Given the description of an element on the screen output the (x, y) to click on. 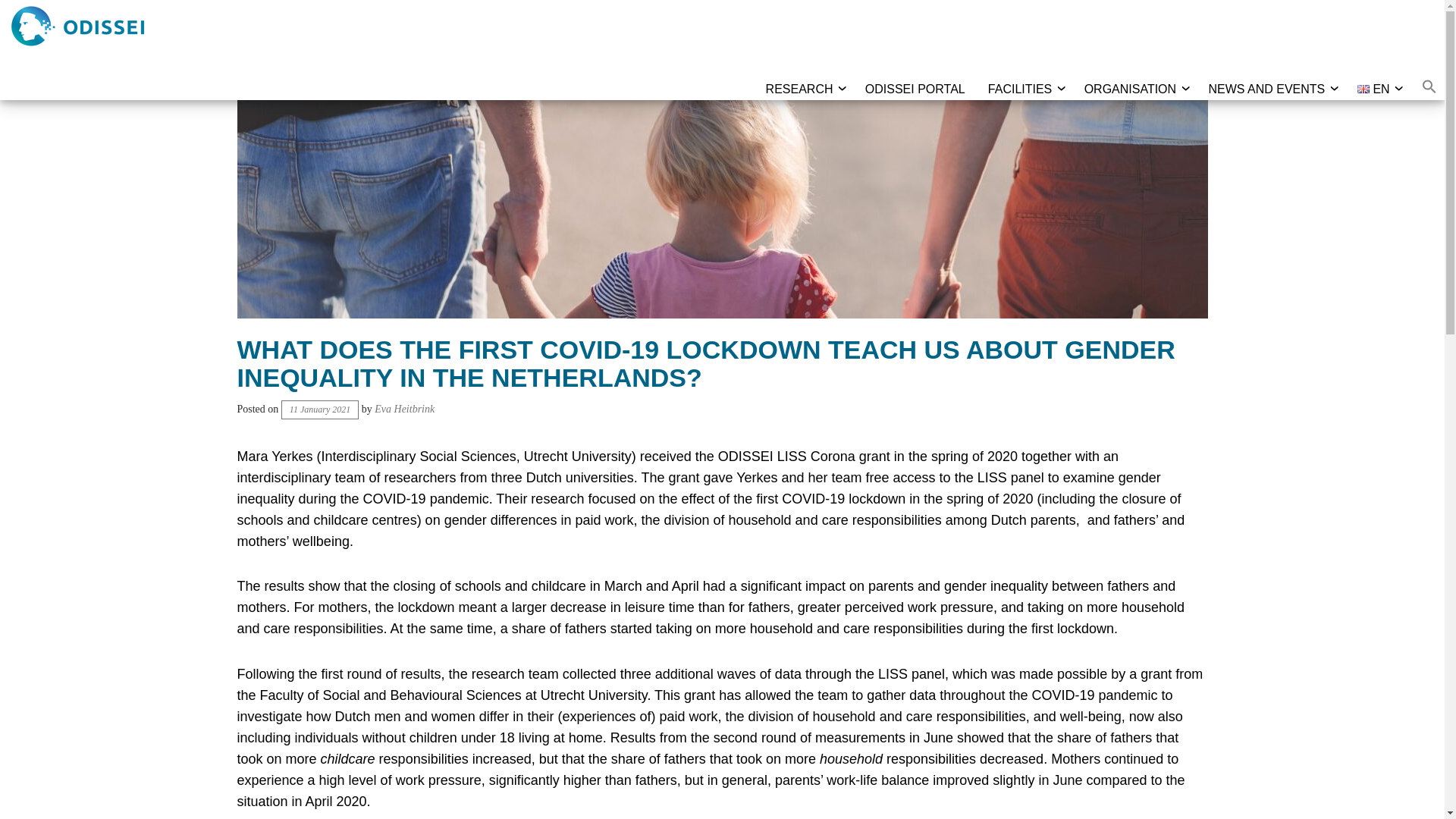
ODISSEI PORTAL (914, 88)
FACILITIES (1019, 88)
RESEARCH (798, 88)
